Given the description of an element on the screen output the (x, y) to click on. 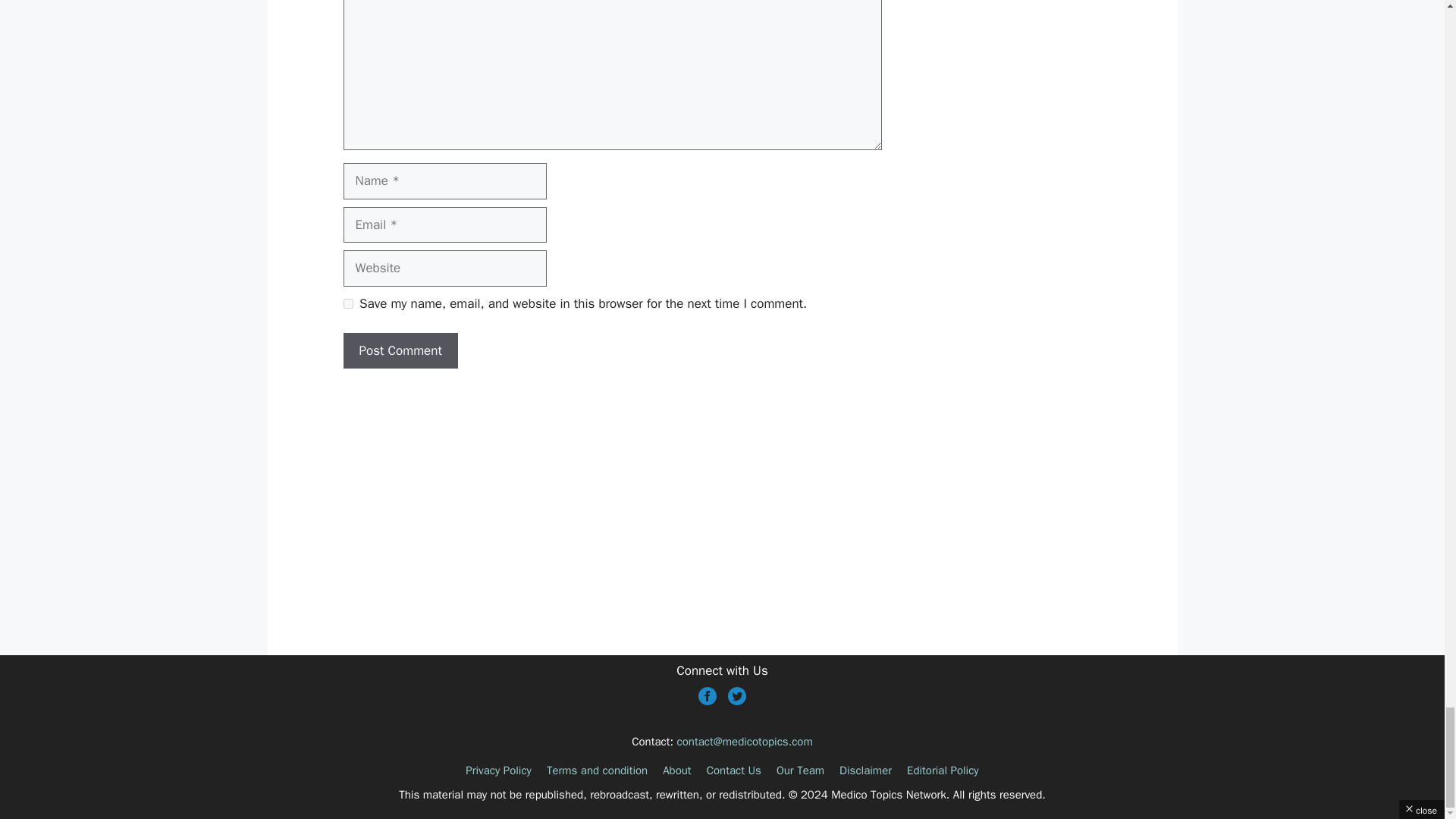
Post Comment (399, 350)
yes (347, 303)
